Given the description of an element on the screen output the (x, y) to click on. 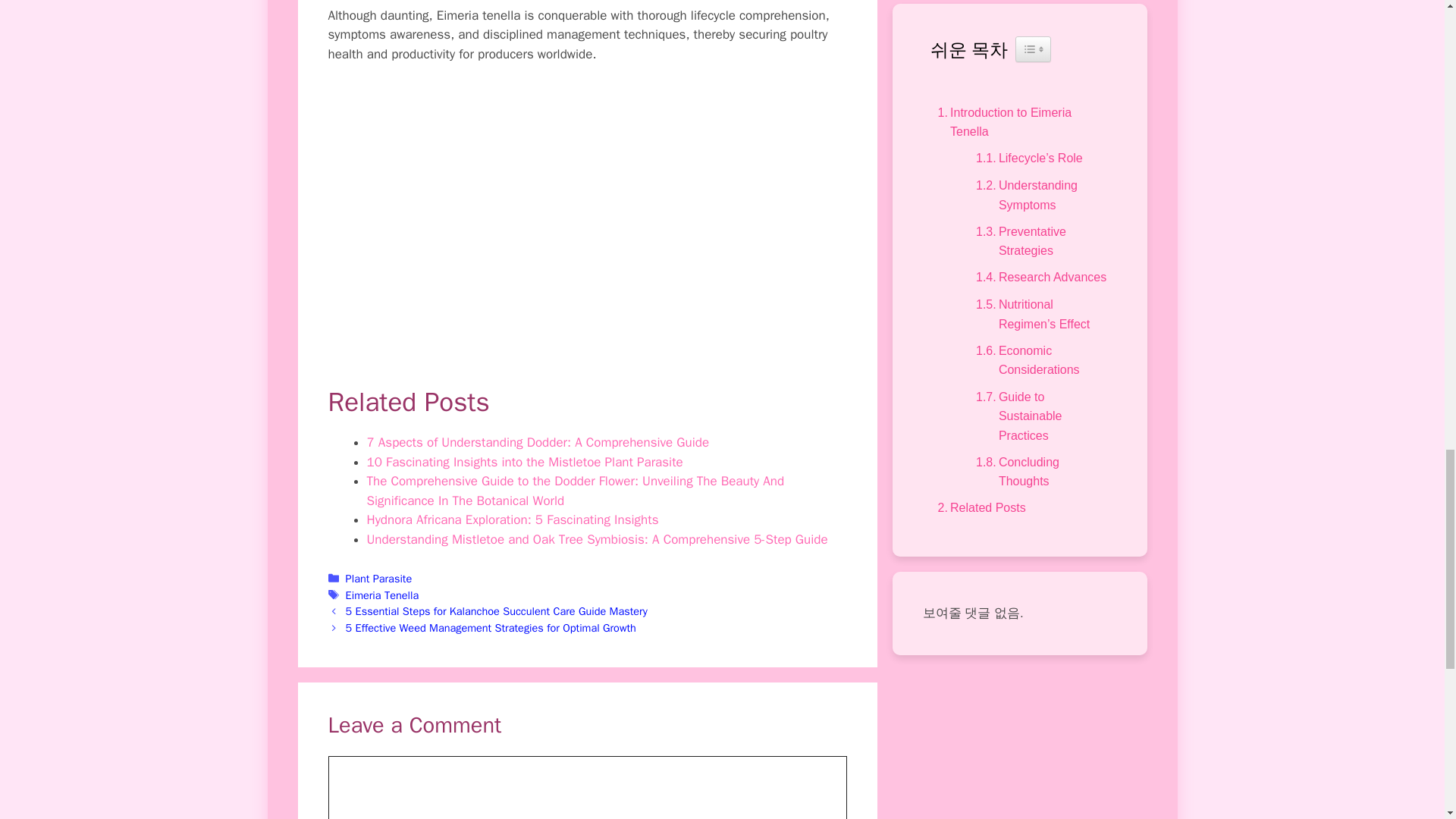
7 Aspects of Understanding Dodder: A Comprehensive Guide (538, 442)
10 Fascinating Insights into the Mistletoe Plant Parasite (524, 462)
Understanding Symptoms (1038, 195)
Preventative Strategies (1038, 241)
Introduction to Eimeria Tenella (1019, 122)
5 Effective Weed Management Strategies for Optimal Growth (491, 627)
5 Essential Steps for Kalanchoe Succulent Care Guide Mastery (496, 611)
Eimeria Tenella (382, 594)
Plant Parasite (379, 578)
Hydnora Africana Exploration: 5 Fascinating Insights (512, 519)
